Given the description of an element on the screen output the (x, y) to click on. 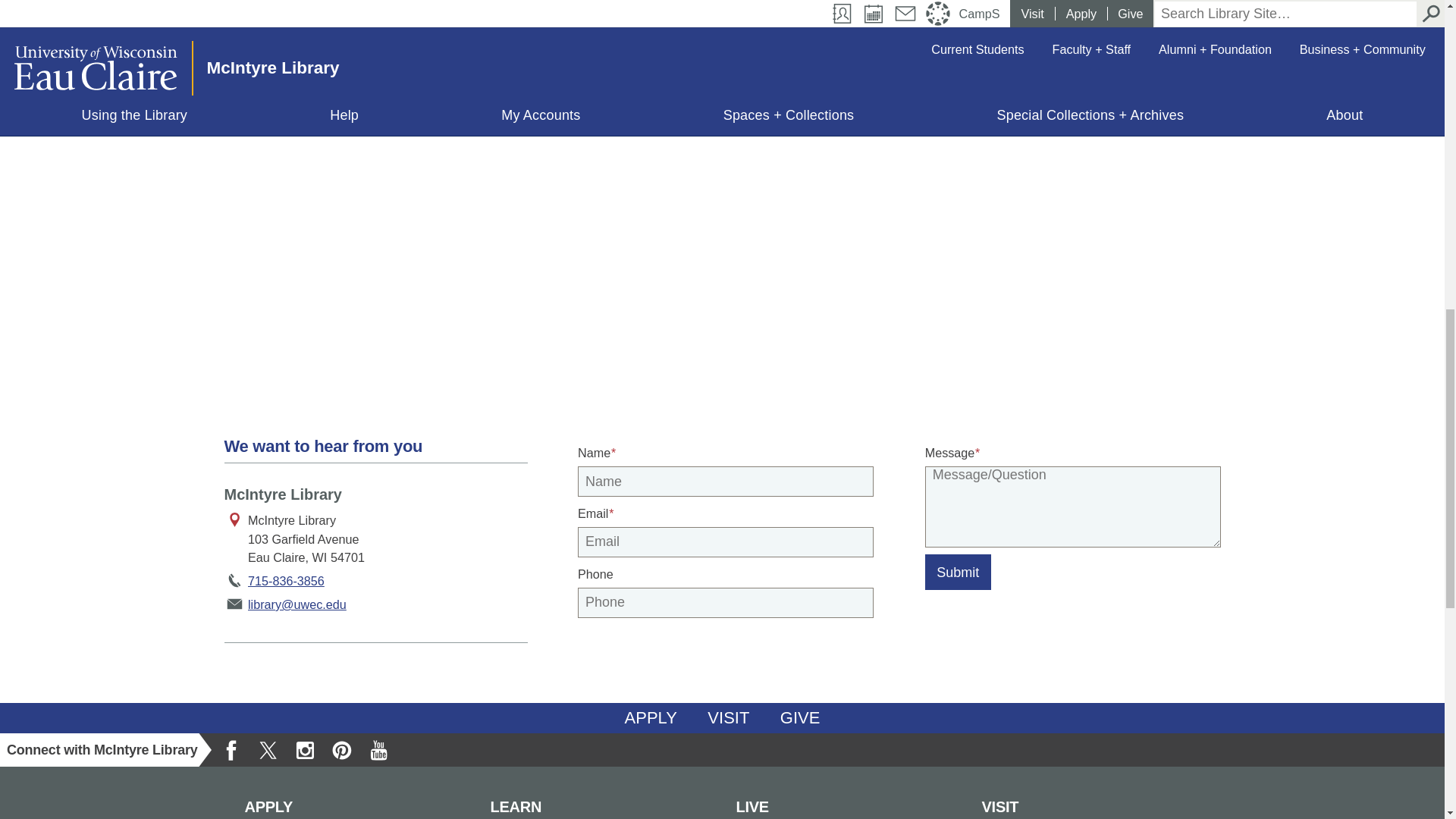
Follow us on Twitter (268, 749)
Give Now (800, 717)
Required Field (612, 452)
Like us on Facebook (230, 749)
Plan a Visit (728, 717)
Follow us on Pinterest (341, 749)
Follow us on Instagram (304, 749)
Required Field (976, 452)
Apply Now (650, 717)
Subscribe to our YouTube channel (377, 749)
